Given the description of an element on the screen output the (x, y) to click on. 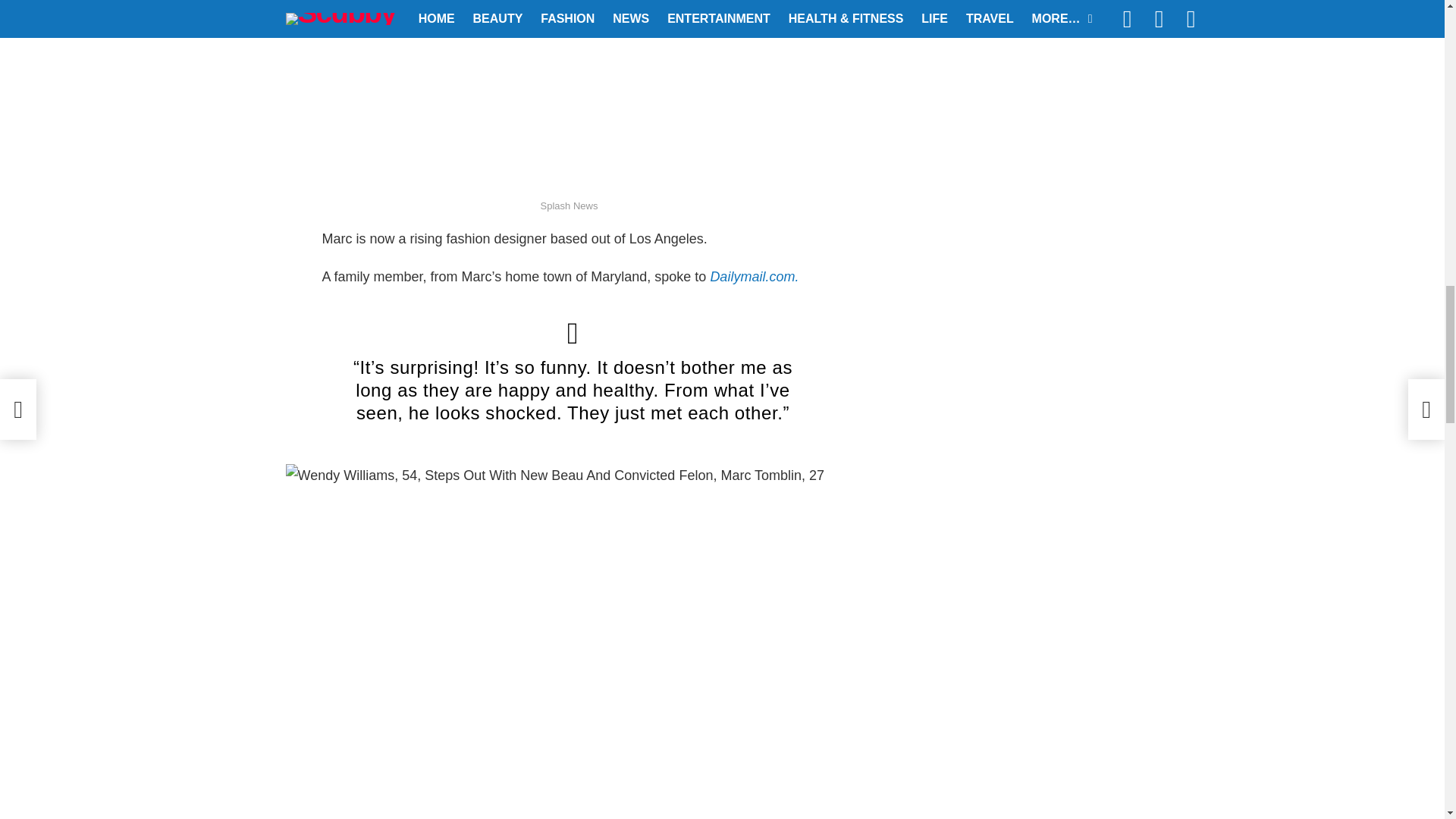
Dailymail.com. (753, 276)
